Given the description of an element on the screen output the (x, y) to click on. 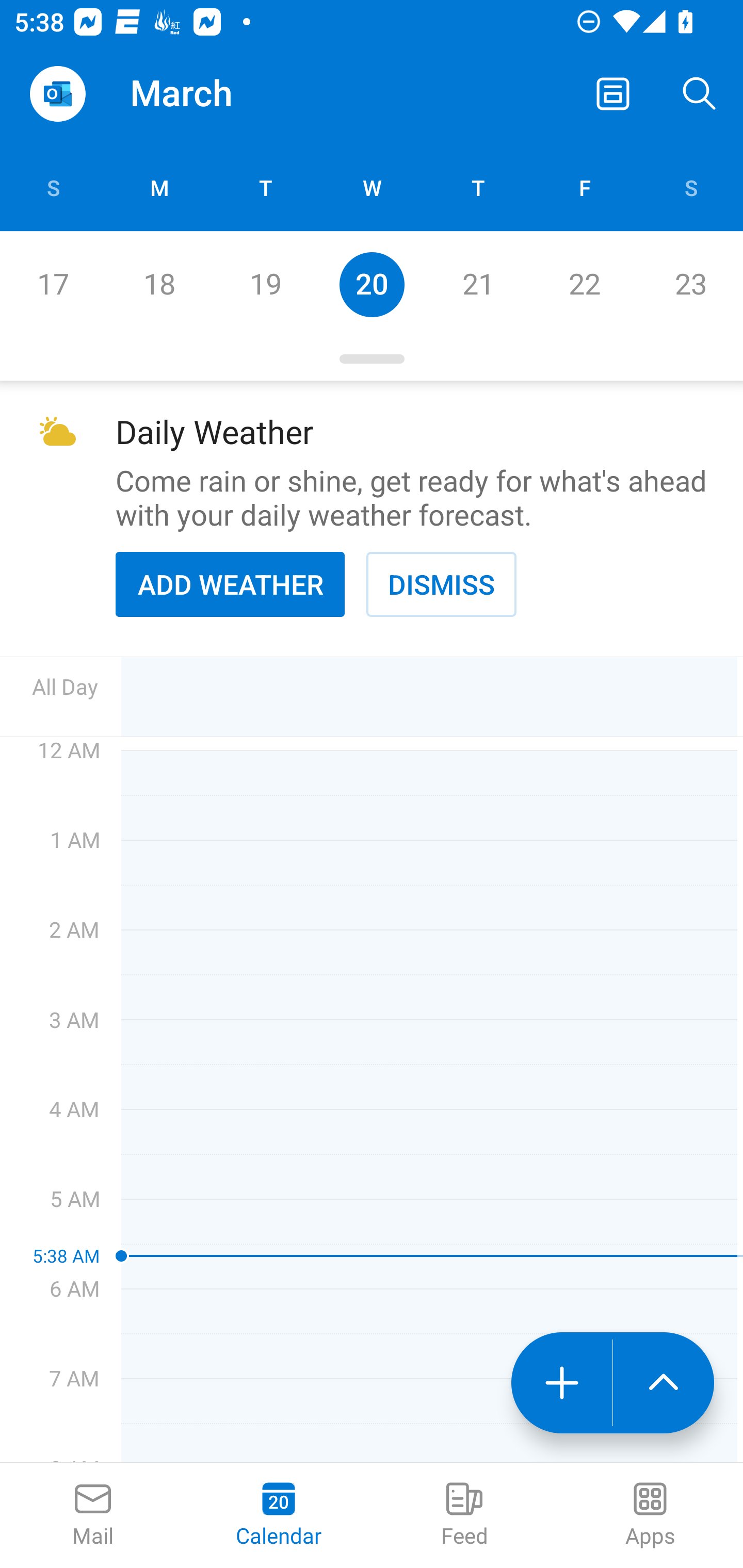
March March 2024, day picker (209, 93)
Switch away from Day view (612, 93)
Search, ,  (699, 93)
Open Navigation Drawer (57, 94)
17 Sunday, March 17 (53, 284)
18 Monday, March 18 (159, 284)
19 Tuesday, March 19 (265, 284)
20 Wednesday, March 20, today, Selected (371, 284)
21 Thursday, March 21 (477, 284)
22 Friday, March 22 (584, 284)
23 Saturday, March 23 (690, 284)
Day picker (371, 359)
ADD WEATHER (230, 583)
DISMISS (440, 583)
New event (561, 1382)
launch the extended action menu (663, 1382)
Mail (92, 1515)
Feed (464, 1515)
Apps (650, 1515)
